Given the description of an element on the screen output the (x, y) to click on. 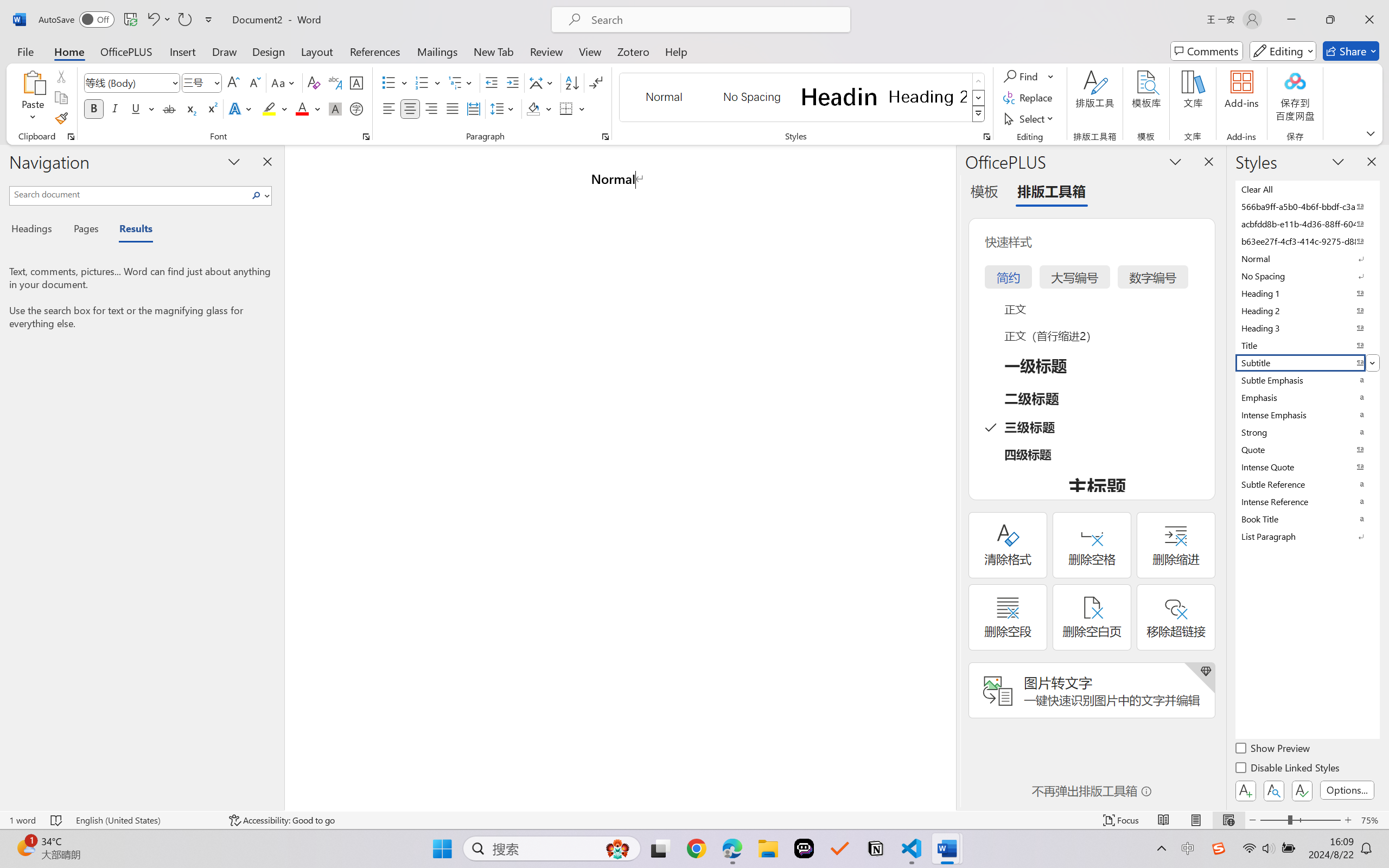
Replace... (1029, 97)
Repeat Style (184, 19)
Zoom Out (1273, 819)
OfficePLUS (126, 51)
Search (256, 195)
AutomationID: BadgeAnchorLargeTicker (24, 847)
Align Left (388, 108)
File Tab (24, 51)
Line and Paragraph Spacing (503, 108)
Intense Reference (1306, 501)
Bullets (395, 82)
AutomationID: QuickStylesGallery (802, 97)
